Given the description of an element on the screen output the (x, y) to click on. 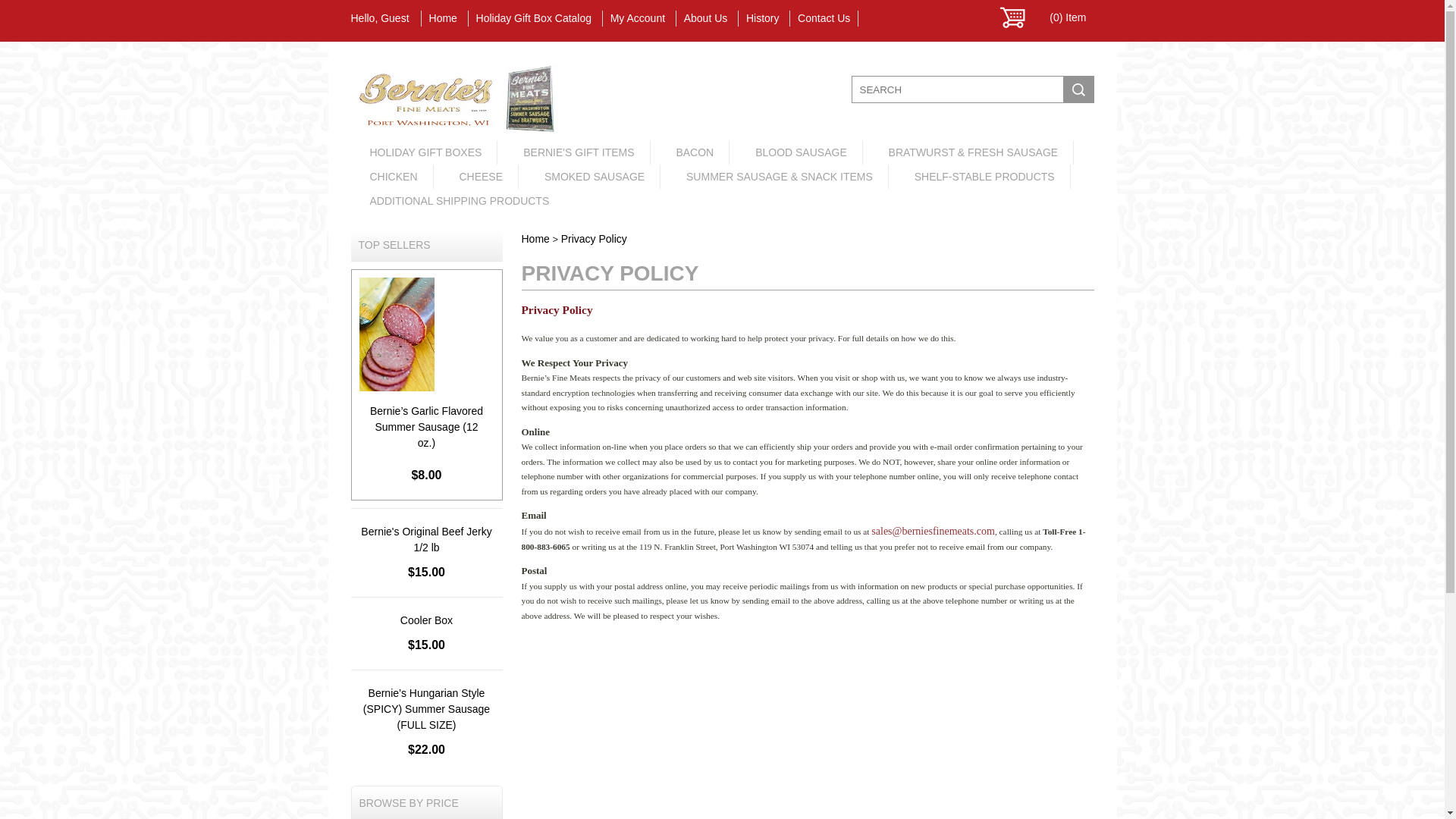
Bernie's Fine Meats (453, 131)
home (453, 131)
Contact Us (823, 18)
BACON (695, 152)
Holiday Gift Box Catalog (533, 18)
About Us (706, 18)
History (762, 18)
Home (443, 18)
HOLIDAY GIFT BOXES (426, 152)
BERNIE'S GIFT ITEMS (578, 152)
